Given the description of an element on the screen output the (x, y) to click on. 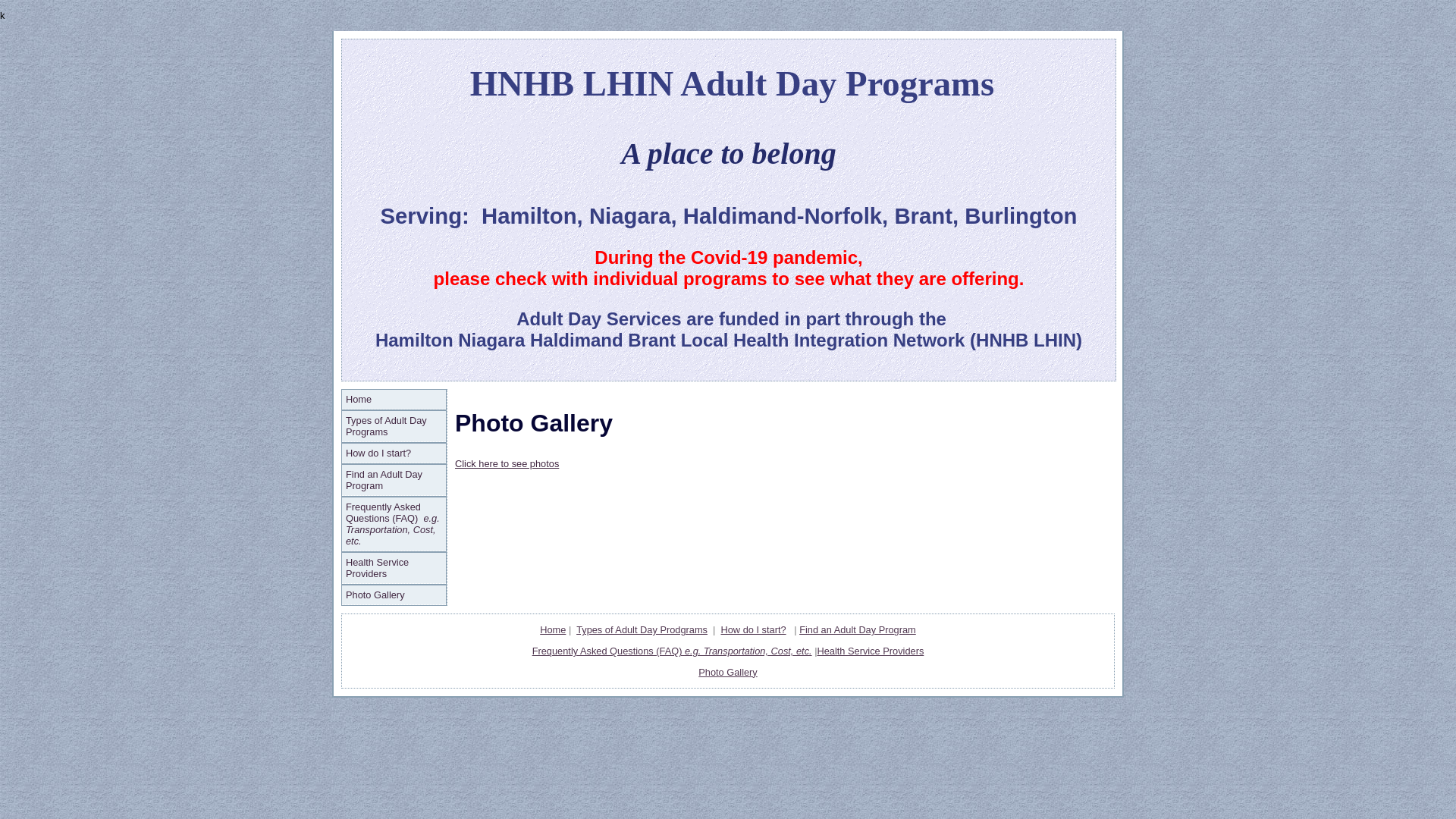
Types of Adult Day Prodgrams Element type: text (641, 629)
Health Service Providers Element type: text (393, 567)
Find an Adult Day Program Element type: text (857, 629)
Types of Adult Day Programs Element type: text (393, 426)
Health Service Providers Element type: text (869, 650)
Click here to see photos Element type: text (506, 463)
Photo Gallery Element type: text (727, 671)
Find an Adult Day Program Element type: text (393, 479)
How do I start? Element type: text (753, 629)
Home Element type: text (552, 629)
Photo Gallery Element type: text (393, 595)
How do I start? Element type: text (393, 453)
Home Element type: text (393, 399)
